Given the description of an element on the screen output the (x, y) to click on. 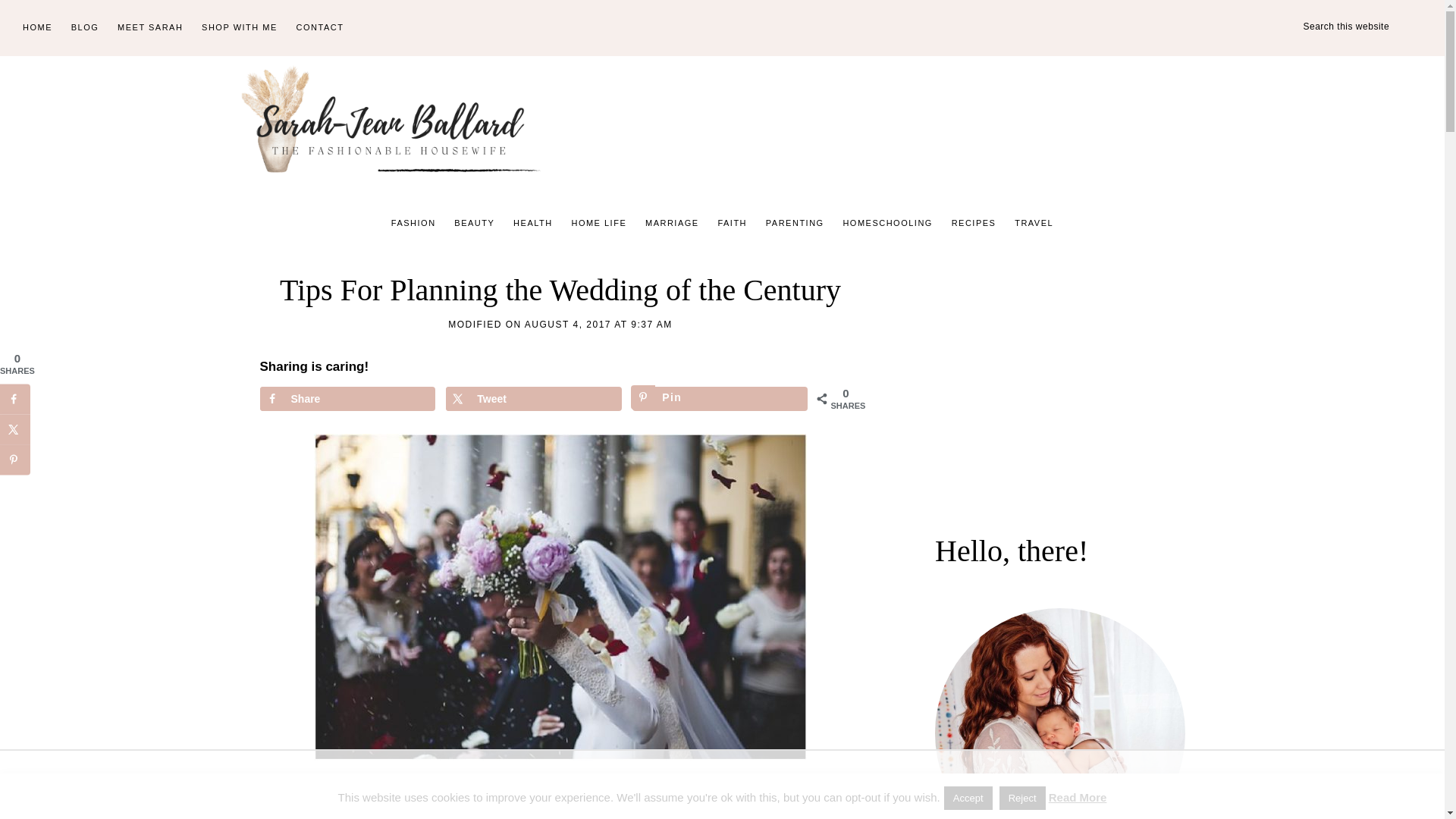
BLOG (85, 27)
Share on Facebook (346, 398)
FASHION (414, 223)
Share on X (533, 398)
CONTACT (320, 27)
SHOP WITH ME (239, 27)
HOME (36, 27)
